Given the description of an element on the screen output the (x, y) to click on. 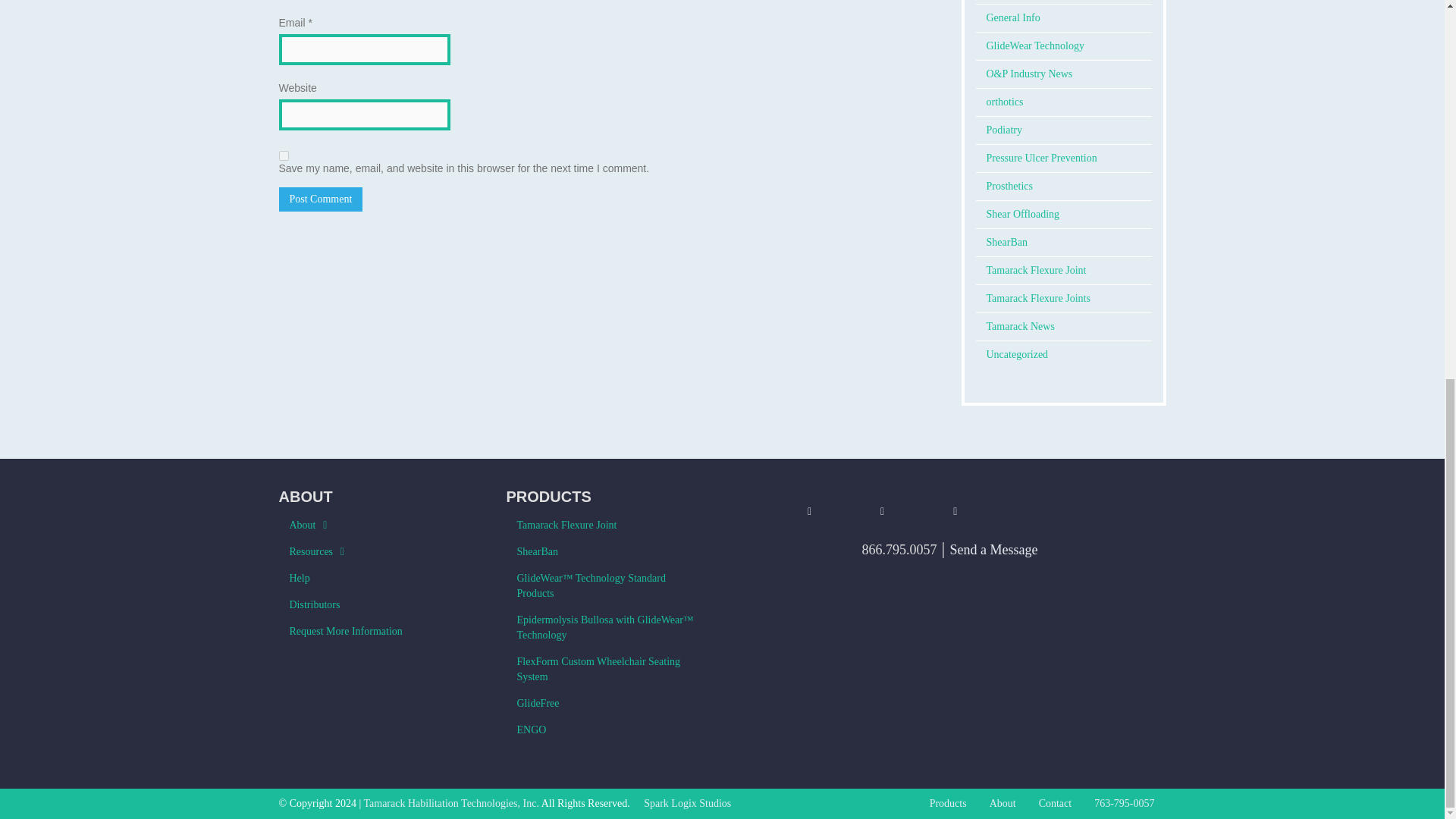
Post Comment (320, 199)
yes (283, 155)
